Given the description of an element on the screen output the (x, y) to click on. 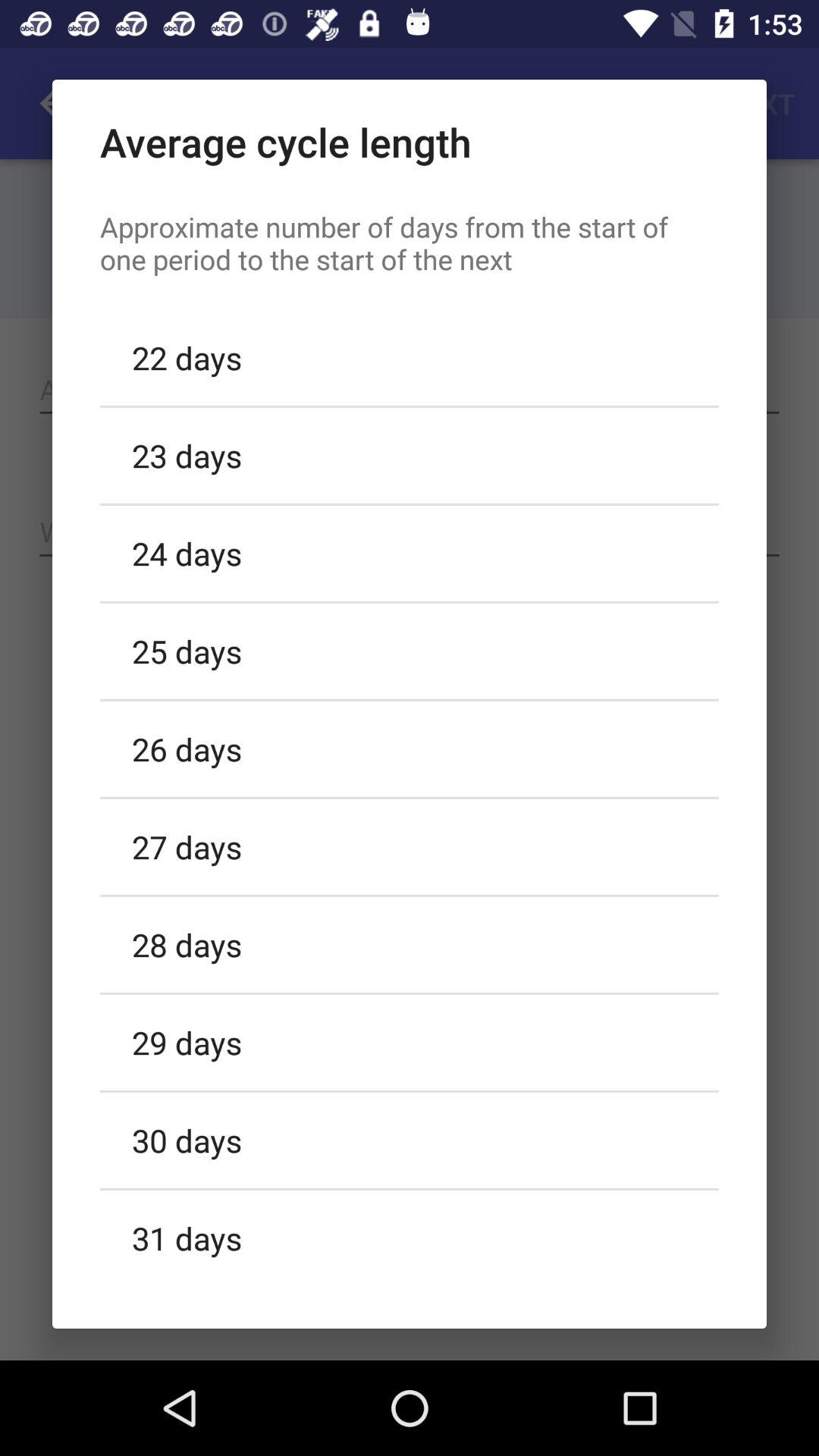
open item below the 30 days icon (409, 1235)
